Given the description of an element on the screen output the (x, y) to click on. 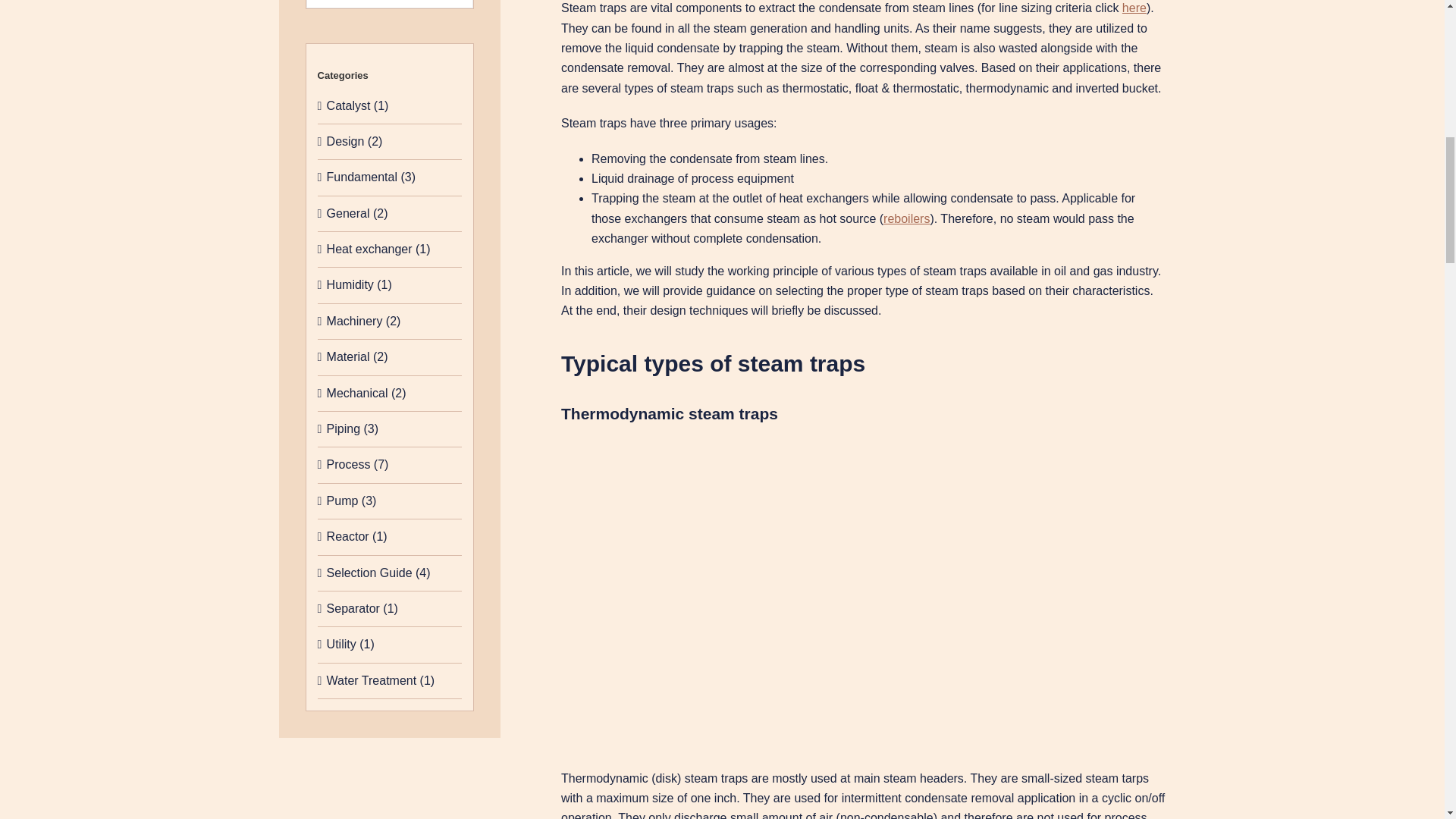
here (1134, 7)
reboilers (906, 218)
Thermodynamic steam trap (863, 601)
